Given the description of an element on the screen output the (x, y) to click on. 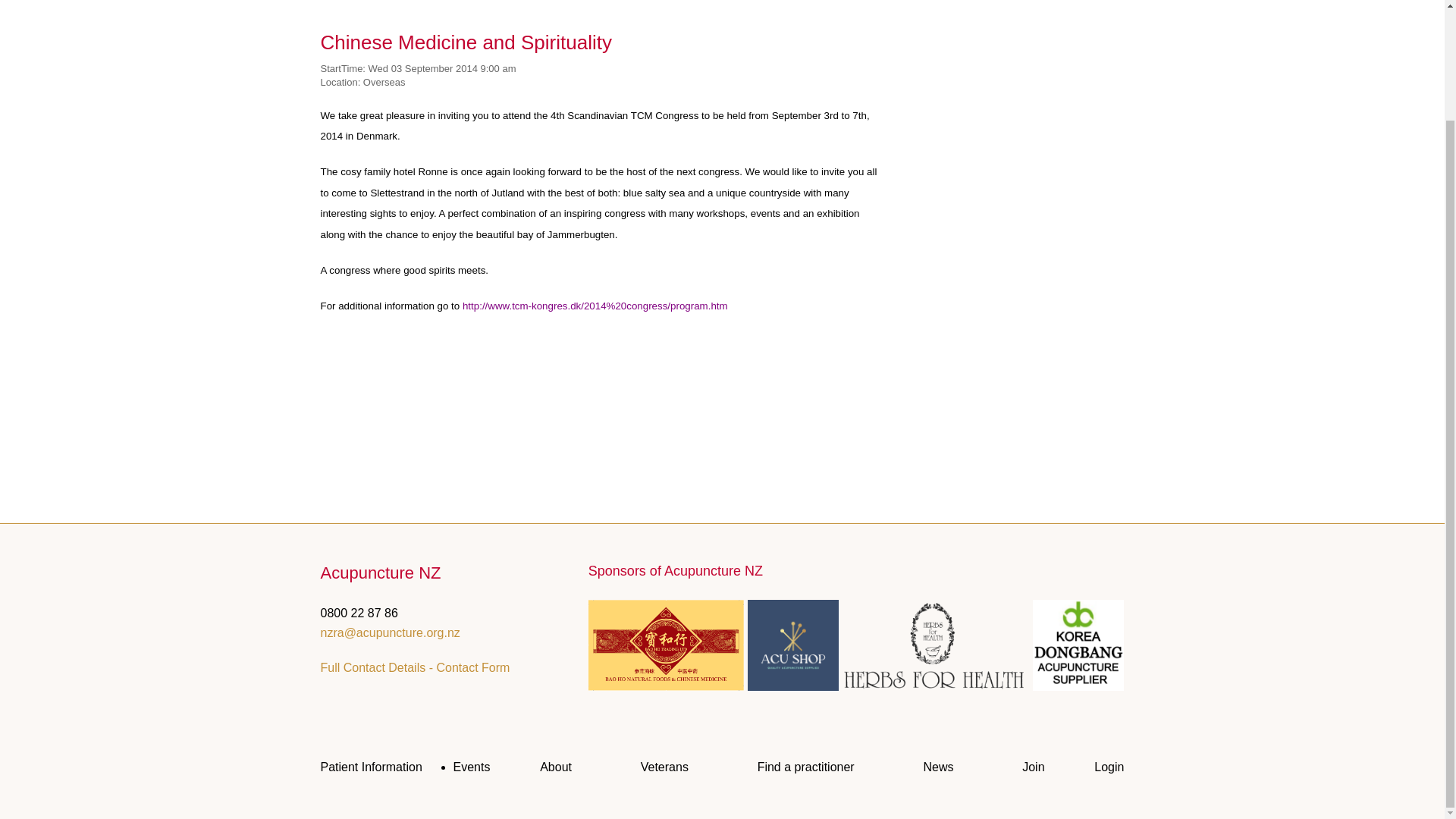
Veterans (664, 766)
Patient Information (371, 766)
0800 22 87 86 (358, 612)
What is Acupuncture? (371, 766)
Events (471, 766)
Join (1032, 766)
Find a practitioner (805, 766)
Full Contact Details - Contact Form (414, 667)
News (938, 766)
Login (1109, 766)
